Given the description of an element on the screen output the (x, y) to click on. 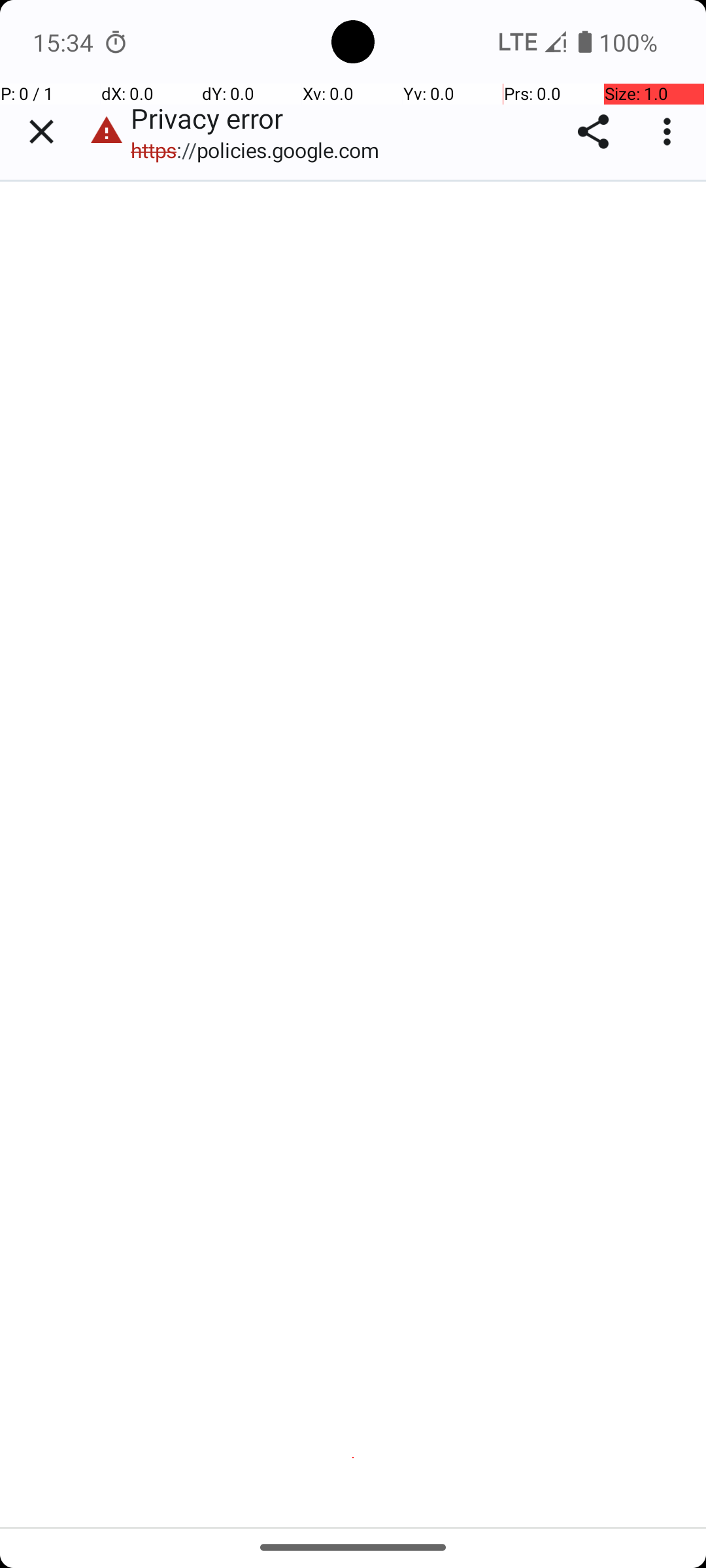
https://policies.google.com Element type: android.widget.TextView (261, 149)
Reload Element type: android.widget.Button (354, 1344)
policies.google.com Element type: android.widget.TextView (152, 653)
